Given the description of an element on the screen output the (x, y) to click on. 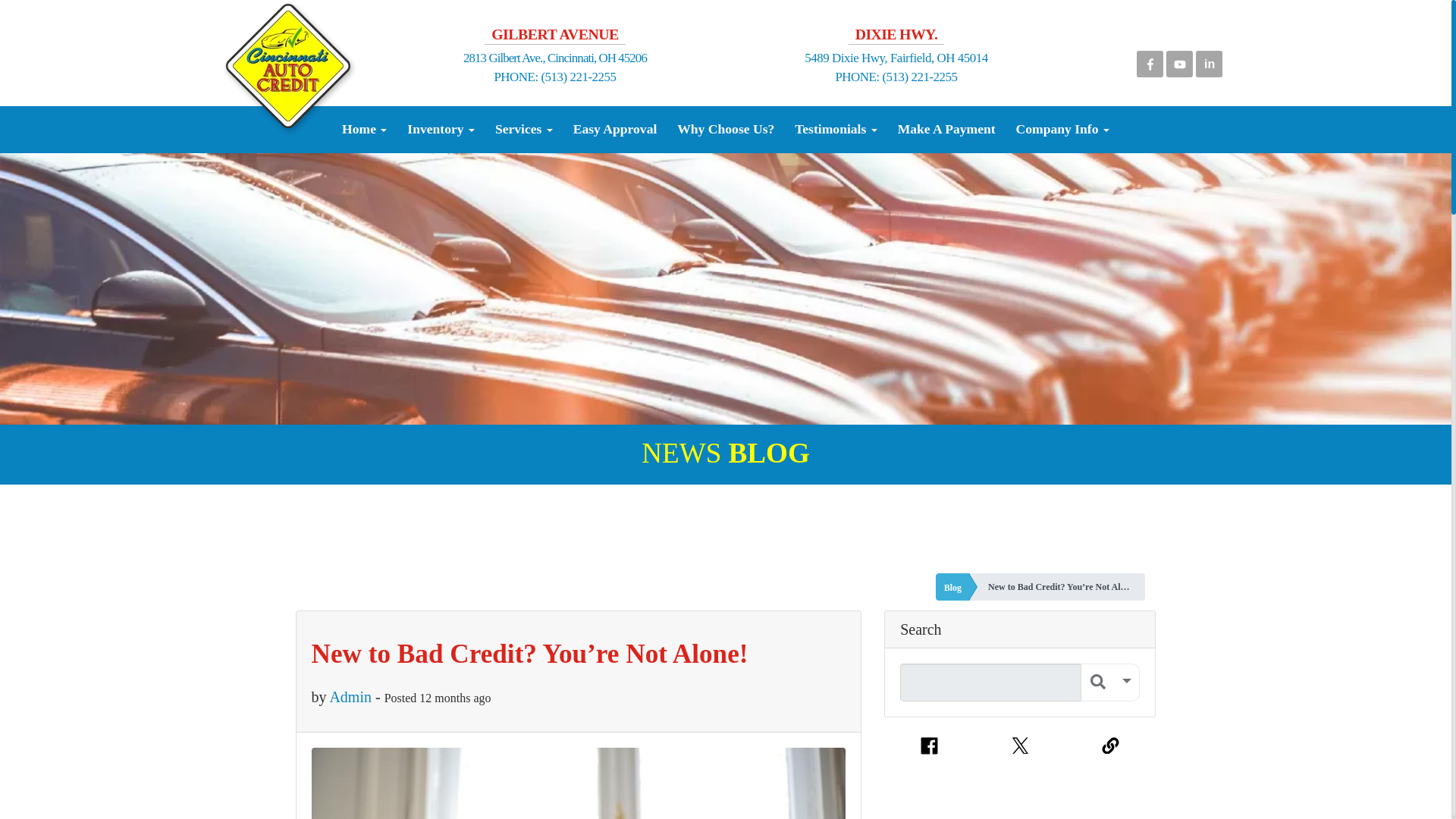
5489 Dixie Hwy, Fairfield, OH 45014 (896, 57)
2813 Gilbert Ave., Cincinnati, OH 45206 (554, 57)
in (1209, 60)
Inventory (440, 129)
Home (364, 129)
